Given the description of an element on the screen output the (x, y) to click on. 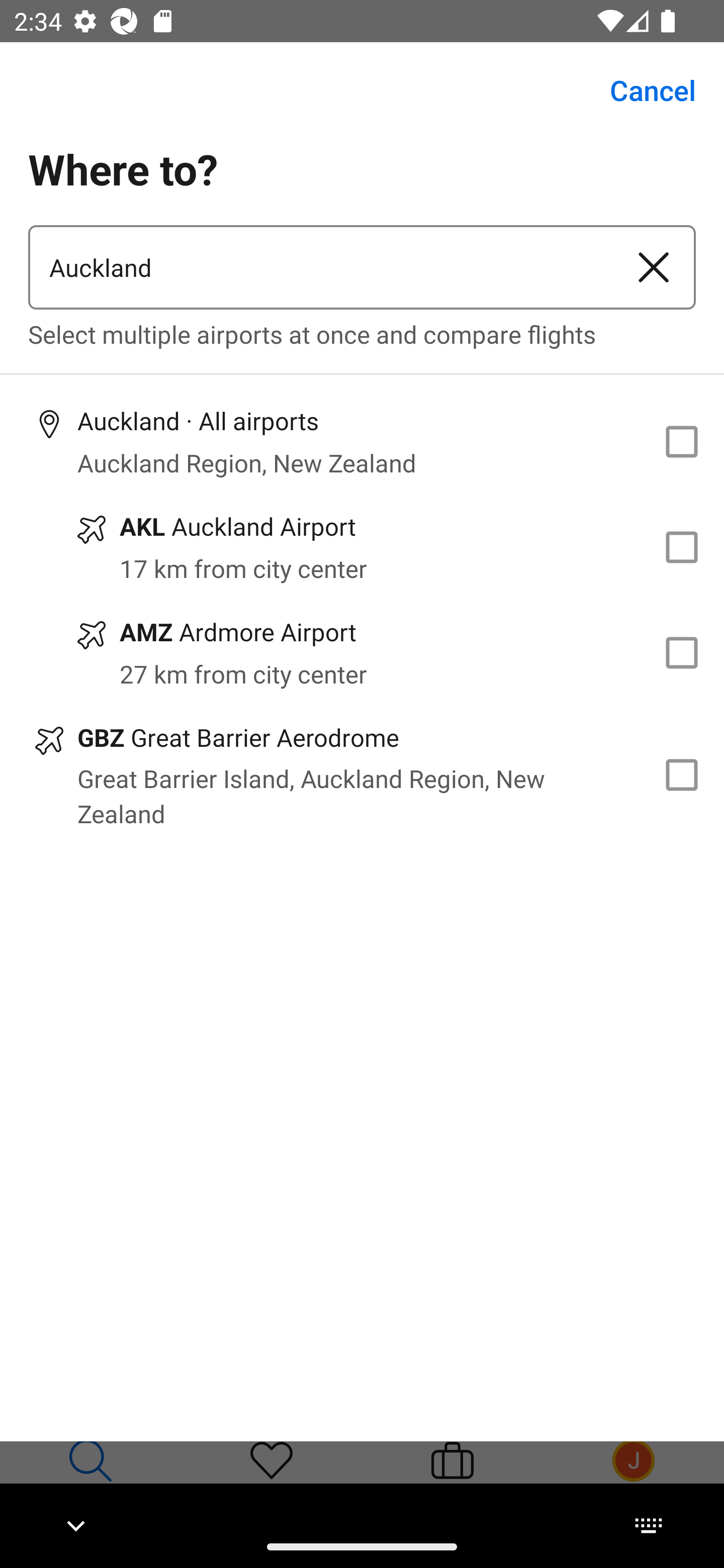
Cancel (641, 90)
Auckland (319, 266)
Clear airport or city (653, 266)
AKL Auckland Airport 17 km from city center (362, 547)
AMZ Ardmore Airport 27 km from city center (362, 652)
